Given the description of an element on the screen output the (x, y) to click on. 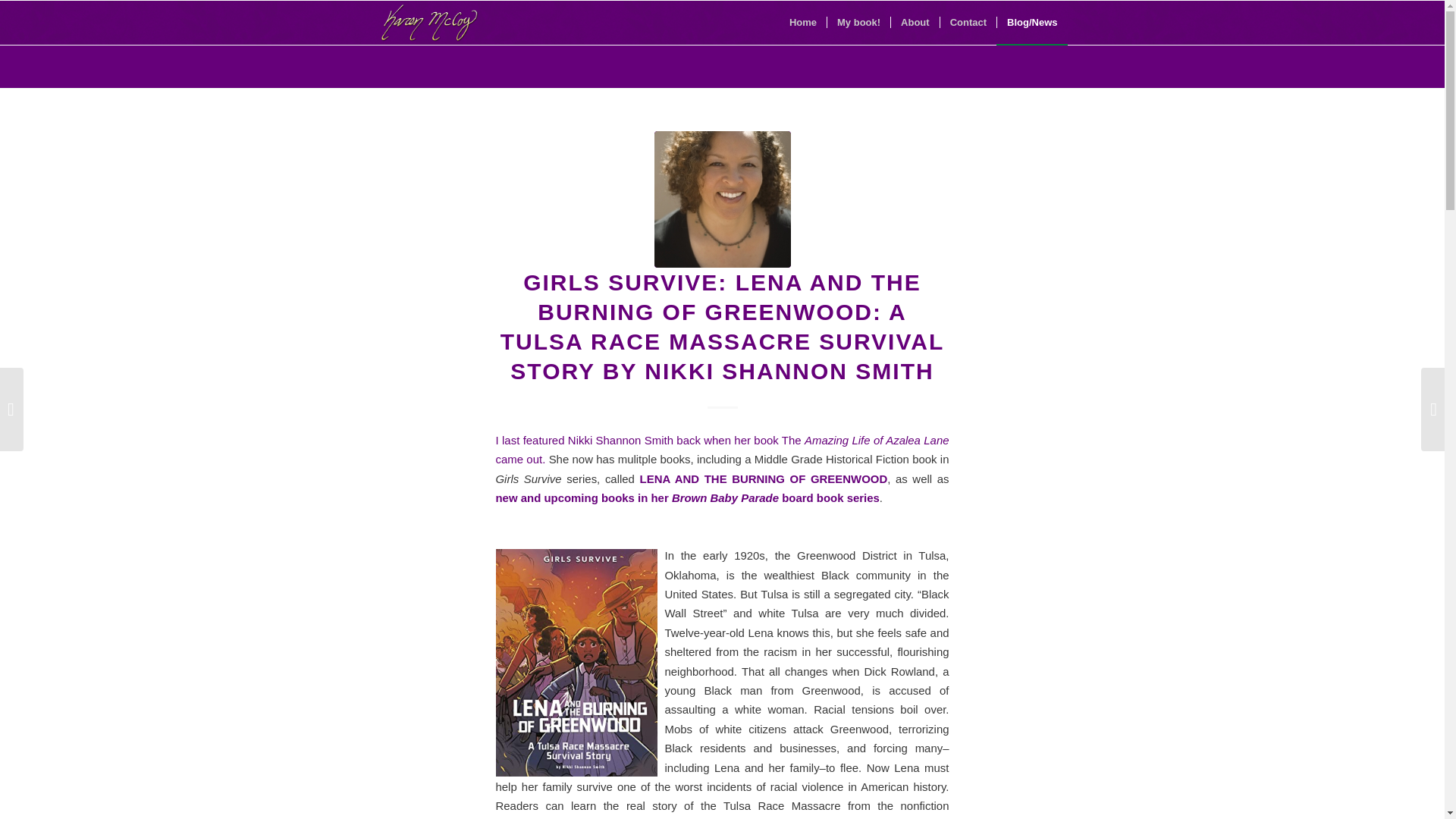
My book! (858, 22)
LENA AND THE BURNING OF GREENWOOD (760, 478)
Contact (967, 22)
About (914, 22)
Home (802, 22)
